Given the description of an element on the screen output the (x, y) to click on. 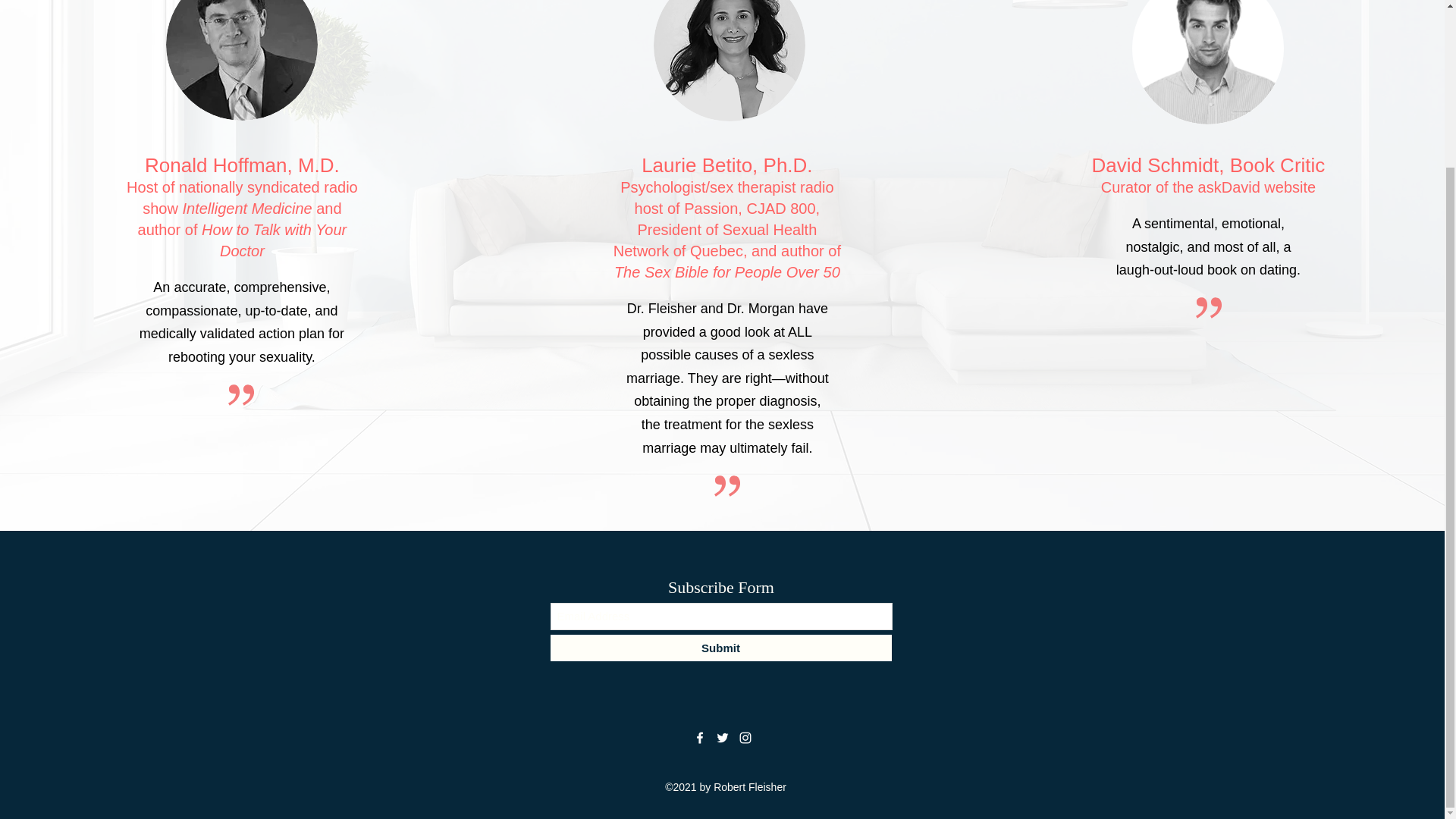
GettyImages-145680711.jpg (1208, 62)
GettyImages-535587703.jpg (241, 60)
Submit (720, 647)
GettyImages-124893619.jpg (729, 60)
